Given the description of an element on the screen output the (x, y) to click on. 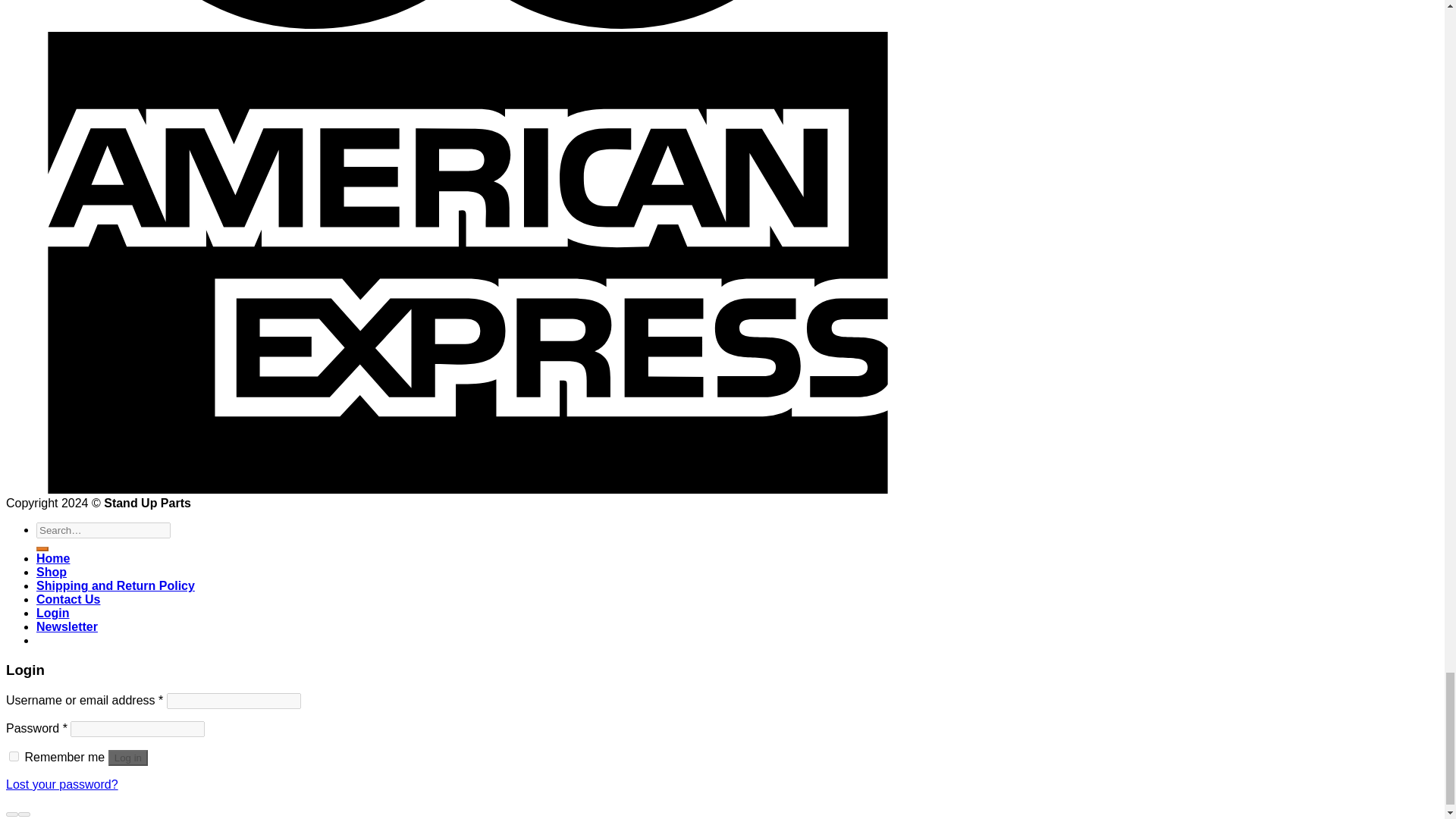
forever (13, 756)
